Given the description of an element on the screen output the (x, y) to click on. 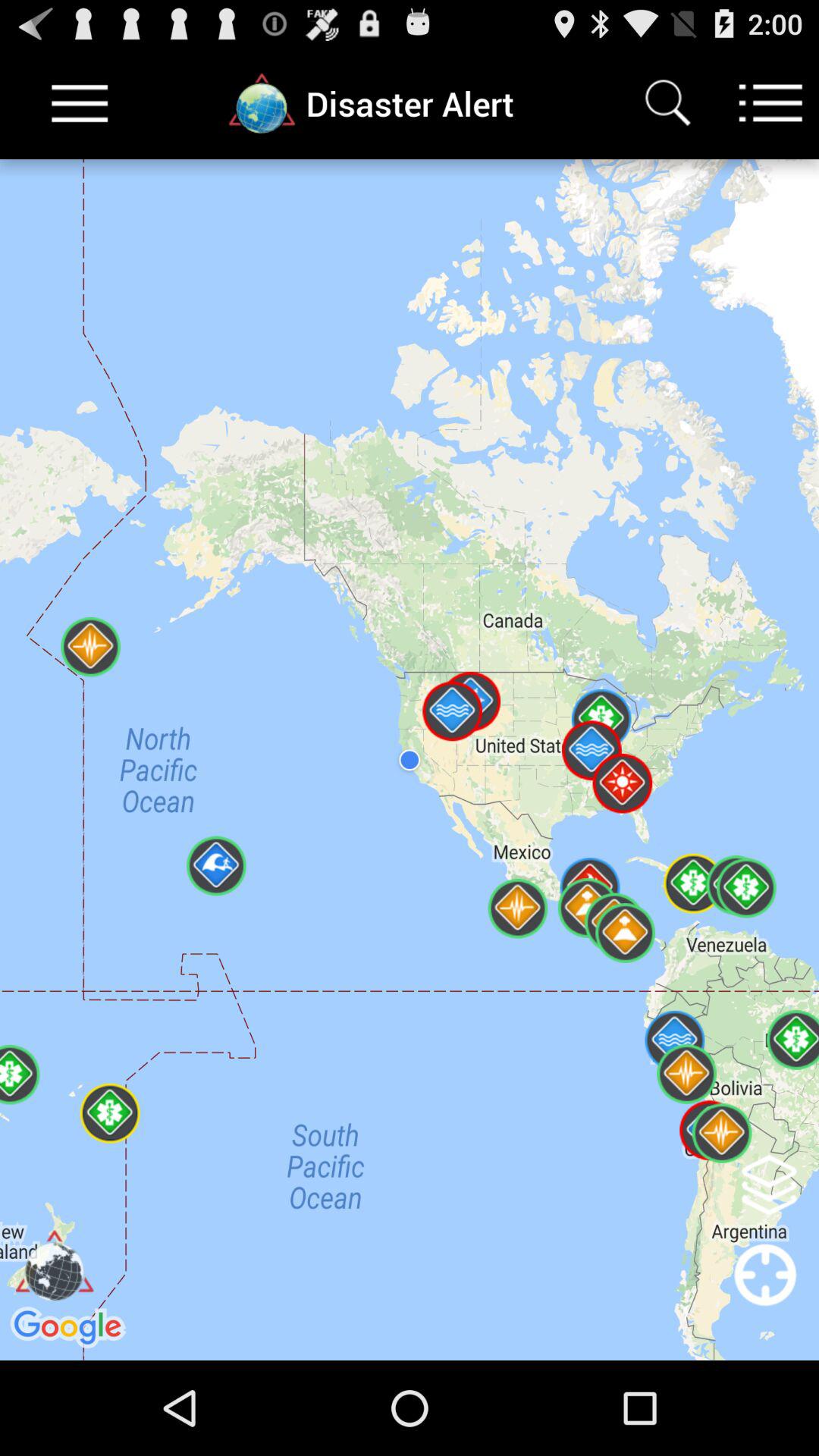
switch to main category menu (770, 103)
